Given the description of an element on the screen output the (x, y) to click on. 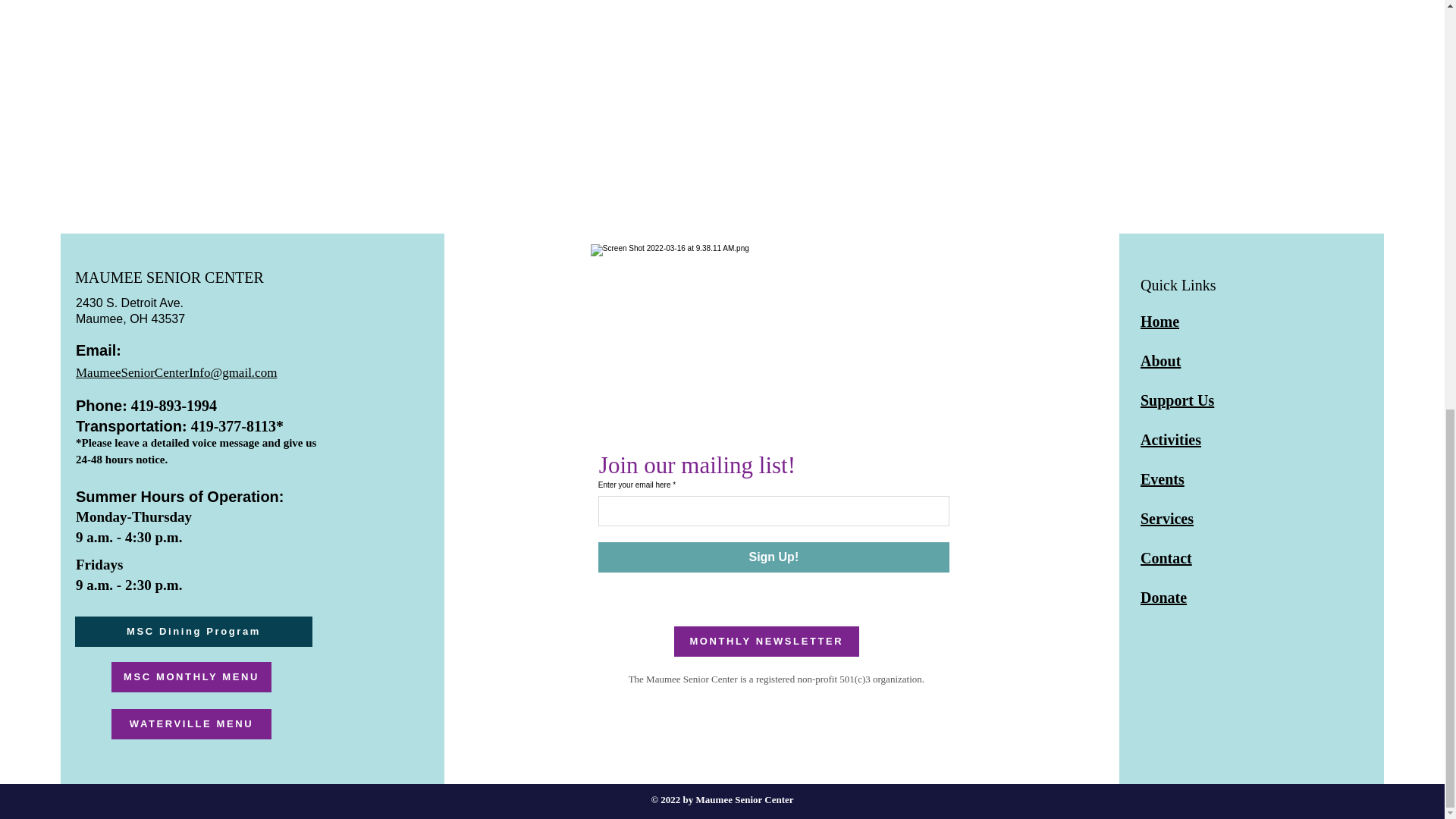
Donate (1163, 597)
Contact (1166, 557)
MONTHLY NEWSLETTER (766, 641)
Services (1166, 518)
Activities (1170, 439)
About (1160, 360)
Support Us (1177, 400)
MSC Dining Program (194, 631)
MSC MONTHLY MENU (191, 676)
Sign Up! (773, 557)
Events (1162, 478)
WATERVILLE MENU (191, 724)
Home (1159, 321)
